Given the description of an element on the screen output the (x, y) to click on. 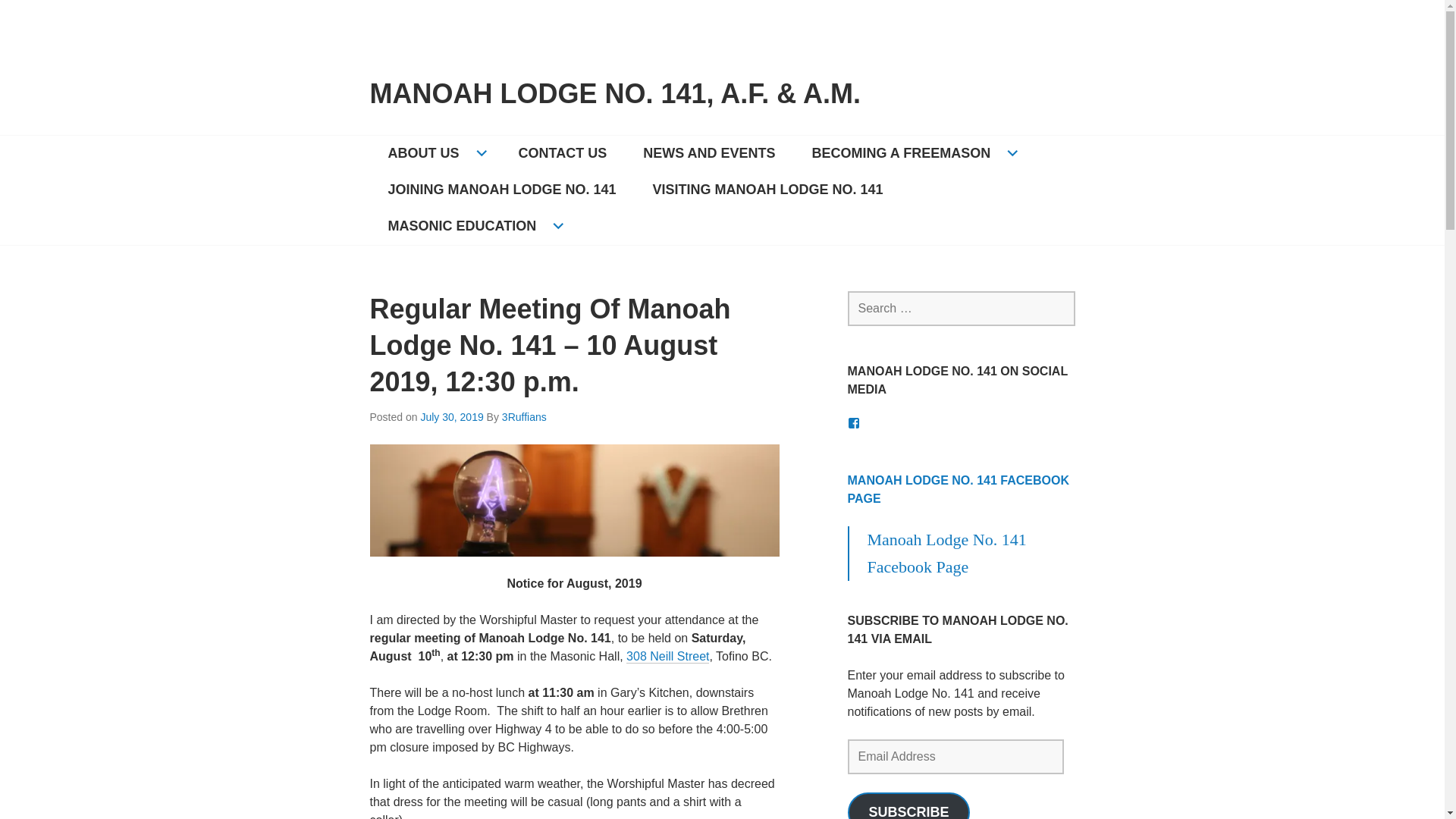
Facebook (853, 422)
CONTACT US (563, 153)
Search (45, 17)
VISITING MANOAH LODGE NO. 141 (767, 189)
3Ruffians (524, 417)
308 Neill Street (667, 656)
NEWS AND EVENTS (708, 153)
MASONIC EDUCATION (473, 226)
MANOAH LODGE NO. 141 FACEBOOK PAGE (957, 489)
JOINING MANOAH LODGE NO. 141 (501, 189)
ABOUT US (434, 153)
July 30, 2019 (451, 417)
BECOMING A FREEMASON (912, 153)
